Given the description of an element on the screen output the (x, y) to click on. 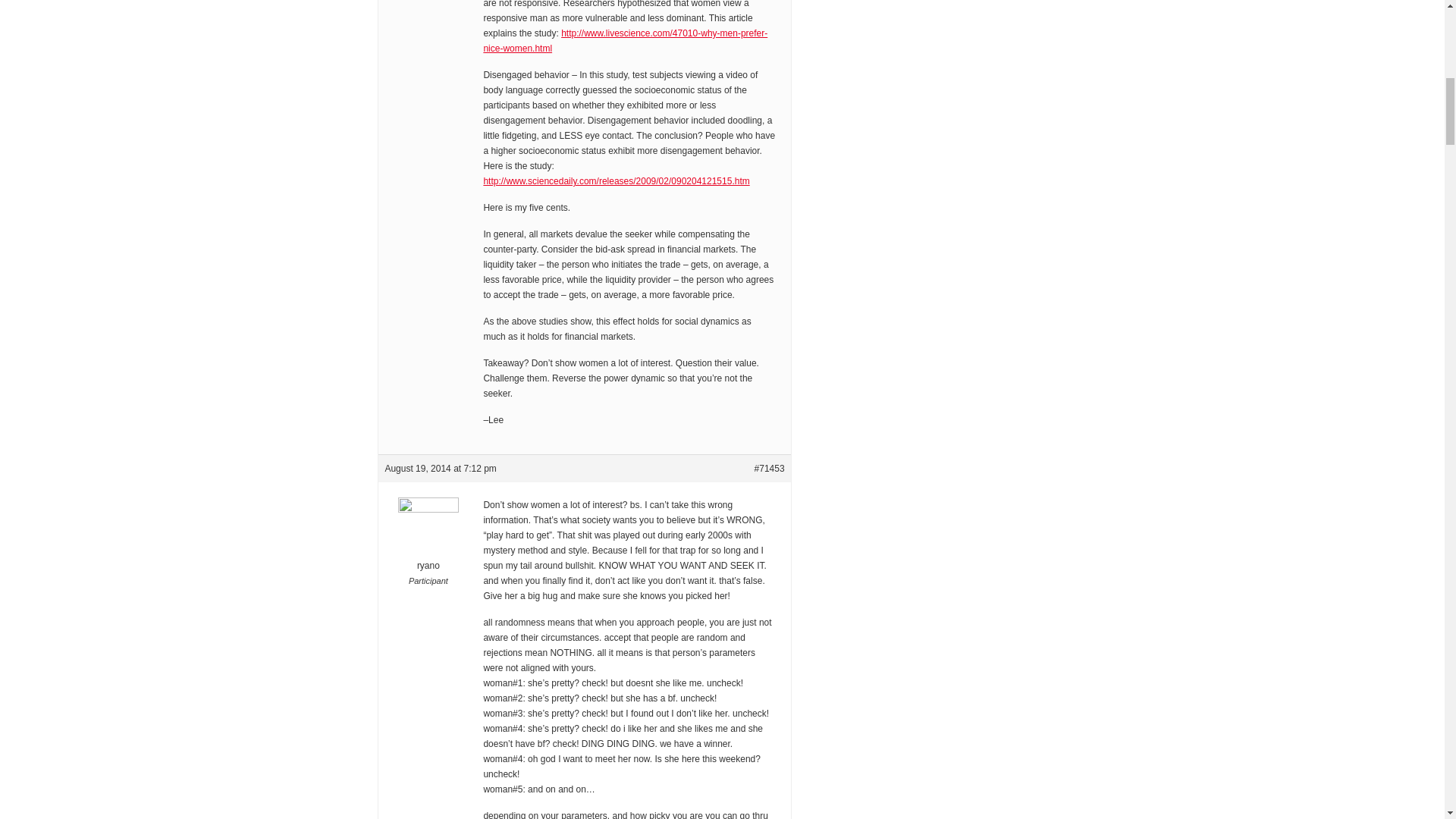
View ryano's profile (427, 544)
ryano (427, 544)
